Given the description of an element on the screen output the (x, y) to click on. 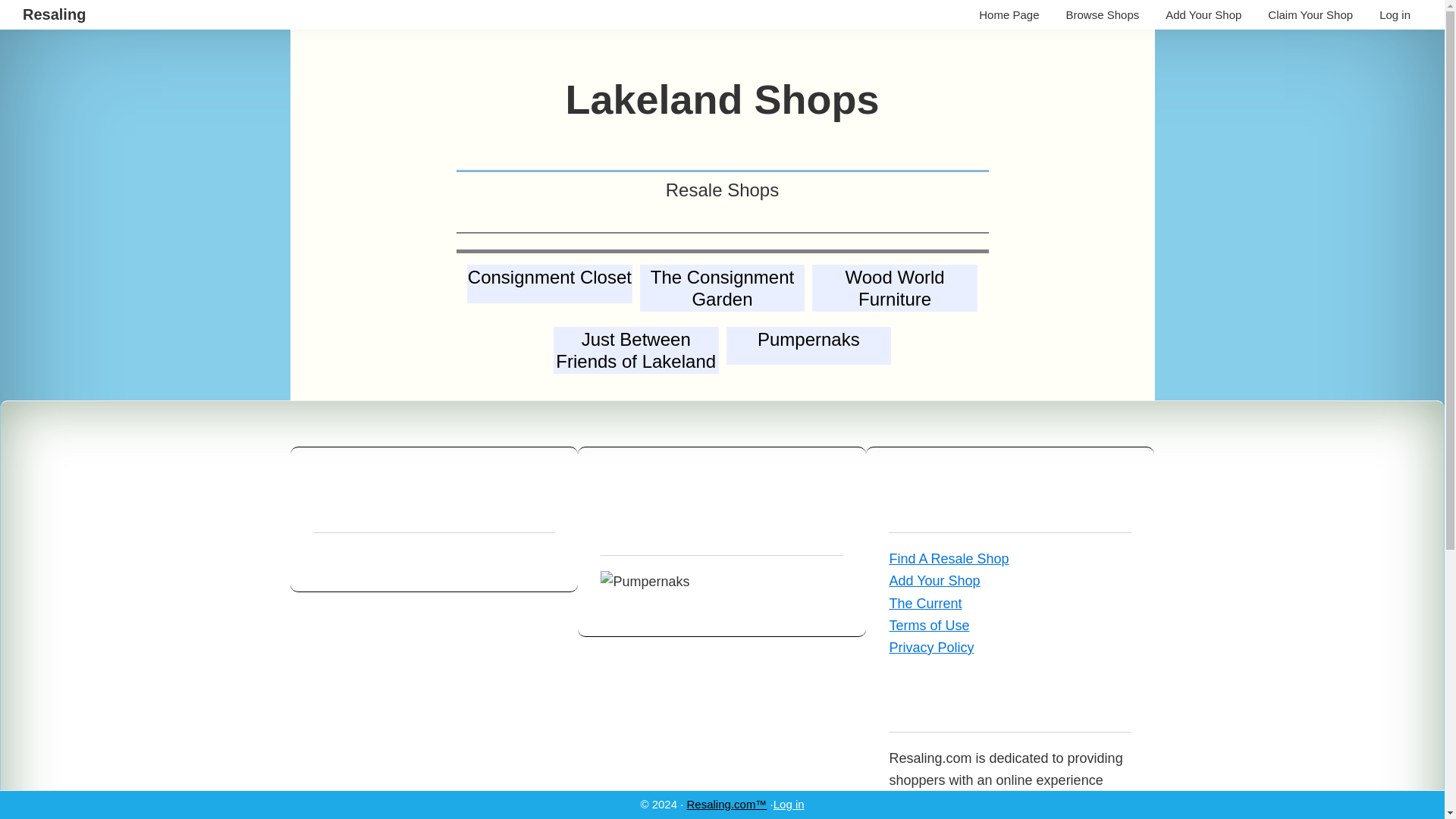
Log in (808, 347)
Resaling (636, 351)
Browse Shops (1395, 14)
Claim Your Shop (54, 13)
Log in (1102, 14)
Home Page (1310, 14)
Terms of Use (789, 803)
Find A Resale Shop (1008, 14)
Privacy Policy (928, 625)
Skip to primary navigation (948, 558)
The Current (931, 647)
